Given the description of an element on the screen output the (x, y) to click on. 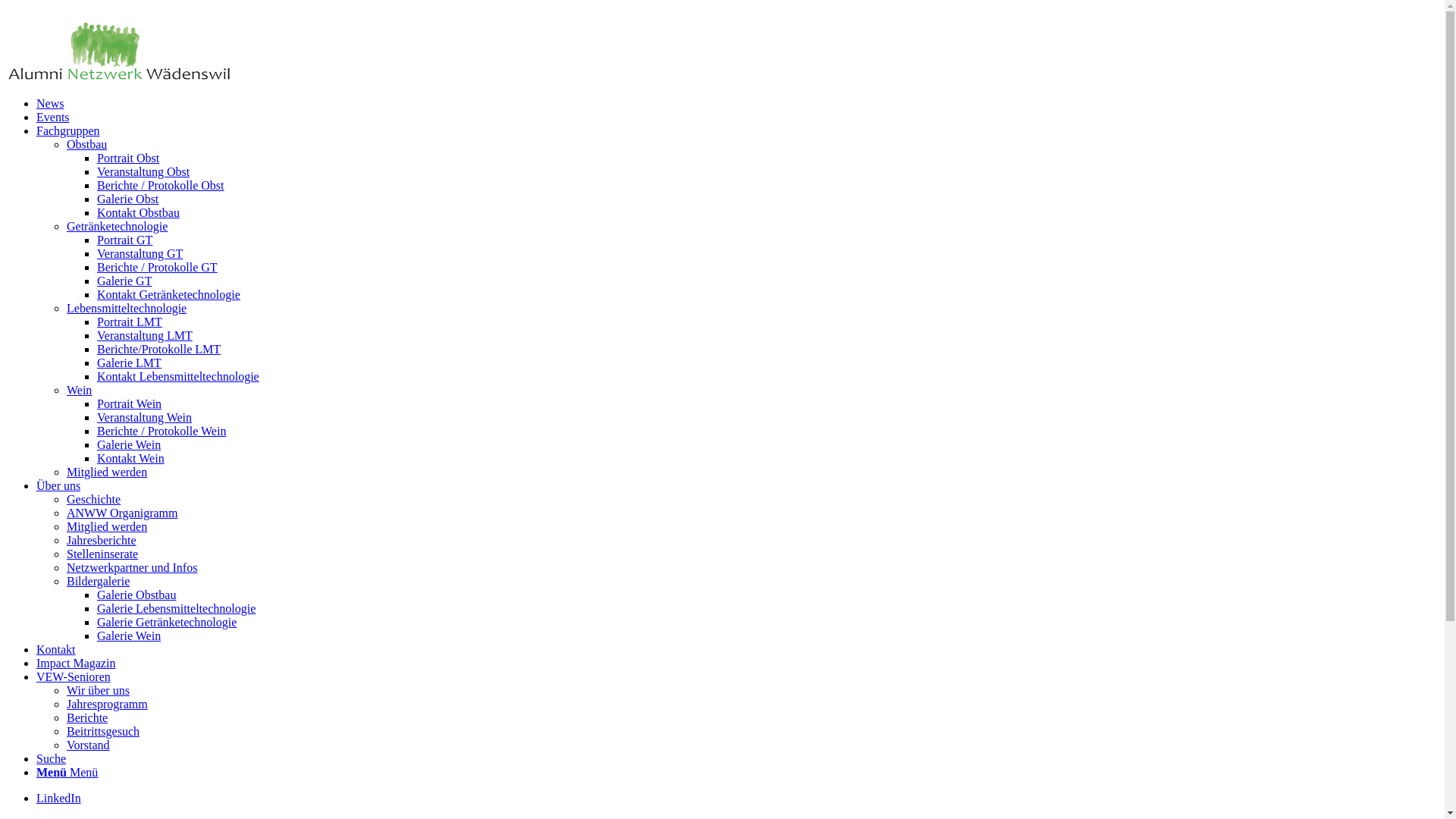
Kontakt Lebensmitteltechnologie Element type: text (178, 376)
Galerie LMT Element type: text (129, 362)
Portrait GT Element type: text (124, 239)
Kontakt Element type: text (55, 649)
Kontakt Obstbau Element type: text (138, 212)
Galerie Obst Element type: text (127, 198)
ANWW Organigramm Element type: text (121, 512)
Mitglied werden Element type: text (106, 526)
Obstbau Element type: text (86, 144)
Stelleninserate Element type: text (102, 553)
Bildergalerie Element type: text (97, 580)
Berichte / Protokolle Wein Element type: text (161, 430)
Lebensmitteltechnologie Element type: text (126, 307)
Portrait Obst Element type: text (128, 157)
Galerie Lebensmitteltechnologie Element type: text (176, 608)
VEW-Senioren Element type: text (73, 676)
Portrait Wein Element type: text (129, 403)
Galerie GT Element type: text (124, 280)
Suche Element type: text (50, 758)
Berichte Element type: text (86, 717)
Kontakt Wein Element type: text (130, 457)
Berichte/Protokolle LMT Element type: text (158, 348)
Netzwerkpartner und Infos Element type: text (131, 567)
Jahresprogramm Element type: text (106, 703)
Vorstand Element type: text (87, 744)
Berichte / Protokolle Obst Element type: text (160, 184)
Events Element type: text (52, 116)
Impact Magazin Element type: text (75, 662)
Galerie Wein Element type: text (128, 635)
Veranstaltung LMT Element type: text (144, 335)
Veranstaltung Obst Element type: text (143, 171)
Galerie Wein Element type: text (128, 444)
Wein Element type: text (78, 389)
News Element type: text (49, 103)
Jahresberichte Element type: text (101, 539)
Portrait LMT Element type: text (129, 321)
Veranstaltung Wein Element type: text (144, 417)
Galerie Obstbau Element type: text (136, 594)
Veranstaltung GT Element type: text (139, 253)
Beitrittsgesuch Element type: text (102, 730)
Mitglied werden Element type: text (106, 471)
LinkedIn Element type: text (58, 797)
Geschichte Element type: text (93, 498)
Berichte / Protokolle GT Element type: text (157, 266)
Fachgruppen Element type: text (68, 130)
